Given the description of an element on the screen output the (x, y) to click on. 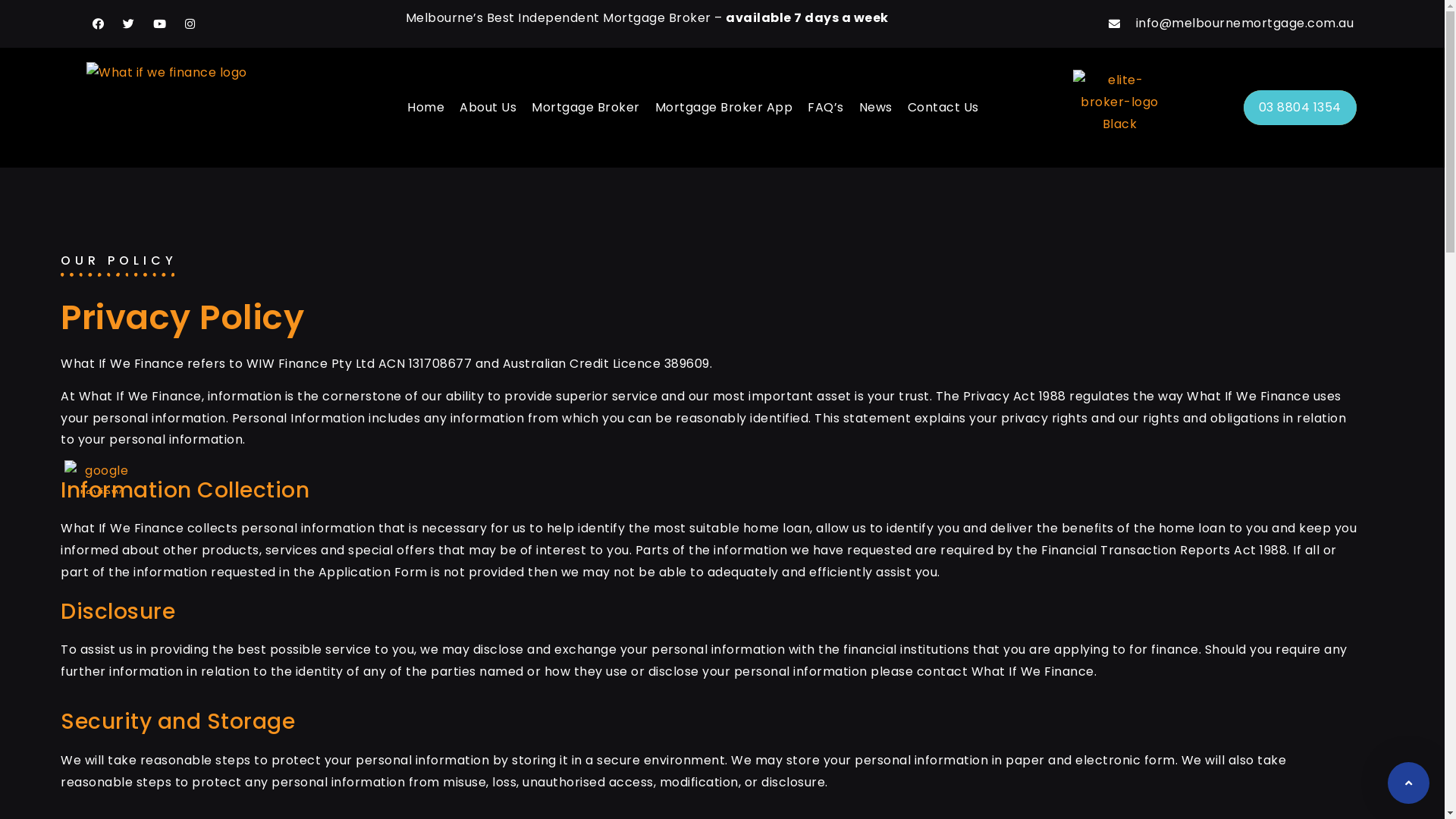
News Element type: text (875, 107)
elite-broker-logo Black Element type: hover (1120, 101)
Mortgage Broker Element type: text (585, 107)
Contact Us Element type: text (943, 107)
info@melbournemortgage.com.au Element type: text (1167, 23)
About Us Element type: text (487, 107)
Home Element type: text (425, 107)
03 8804 1354 Element type: text (1299, 107)
Mortgage Broker App Element type: text (723, 107)
